Given the description of an element on the screen output the (x, y) to click on. 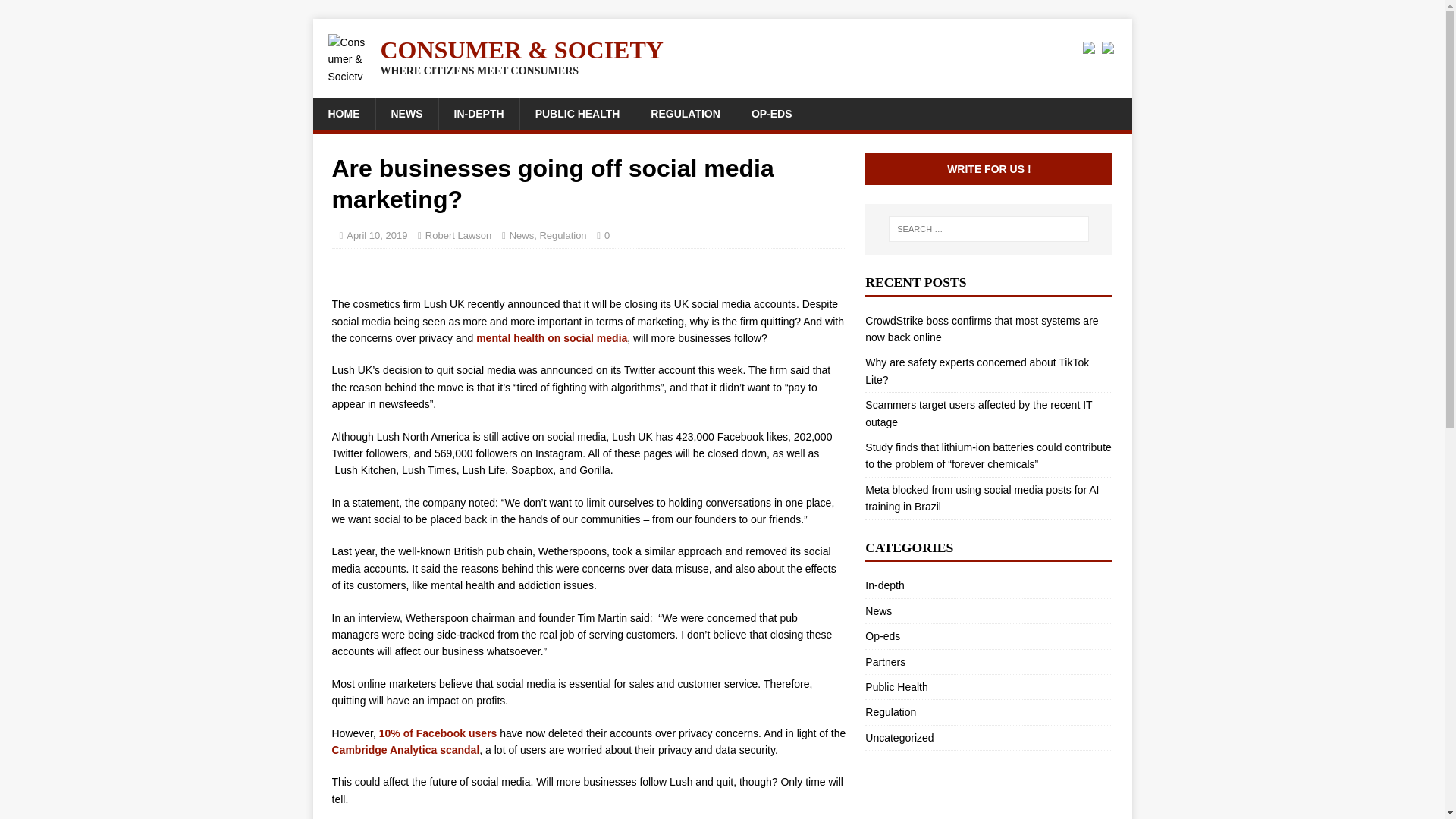
Regulation (988, 711)
News (521, 235)
IN-DEPTH (478, 113)
Search (56, 11)
Op-eds (988, 636)
News (988, 610)
HOME (343, 113)
Robert Lawson (458, 235)
Partners (988, 662)
Scammers target users affected by the recent IT outage  (978, 412)
In-depth (988, 587)
Why are safety experts concerned about TikTok Lite?  (976, 370)
April 10, 2019 (376, 235)
Public Health (988, 686)
